Given the description of an element on the screen output the (x, y) to click on. 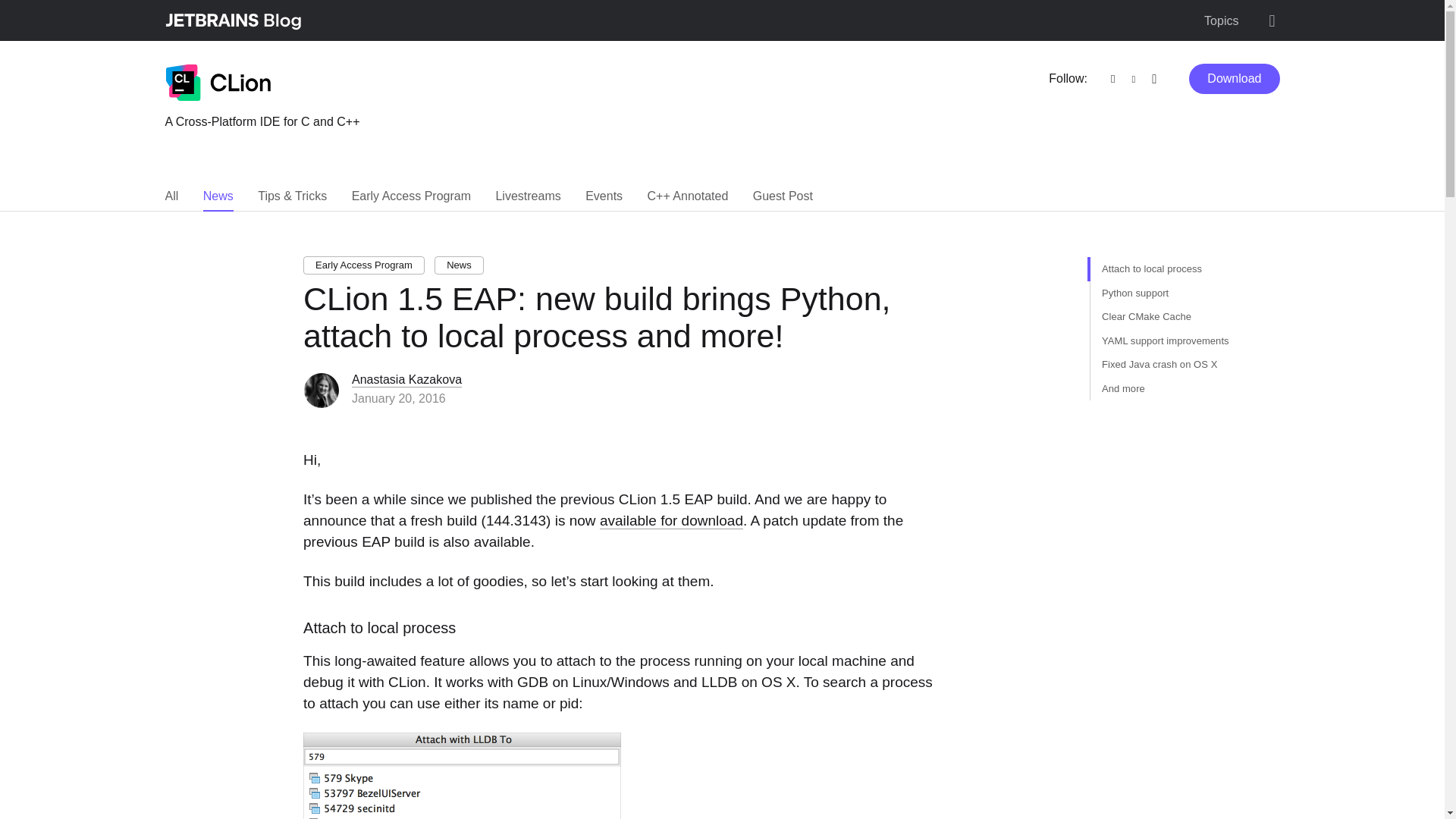
Topics (1221, 21)
